Given the description of an element on the screen output the (x, y) to click on. 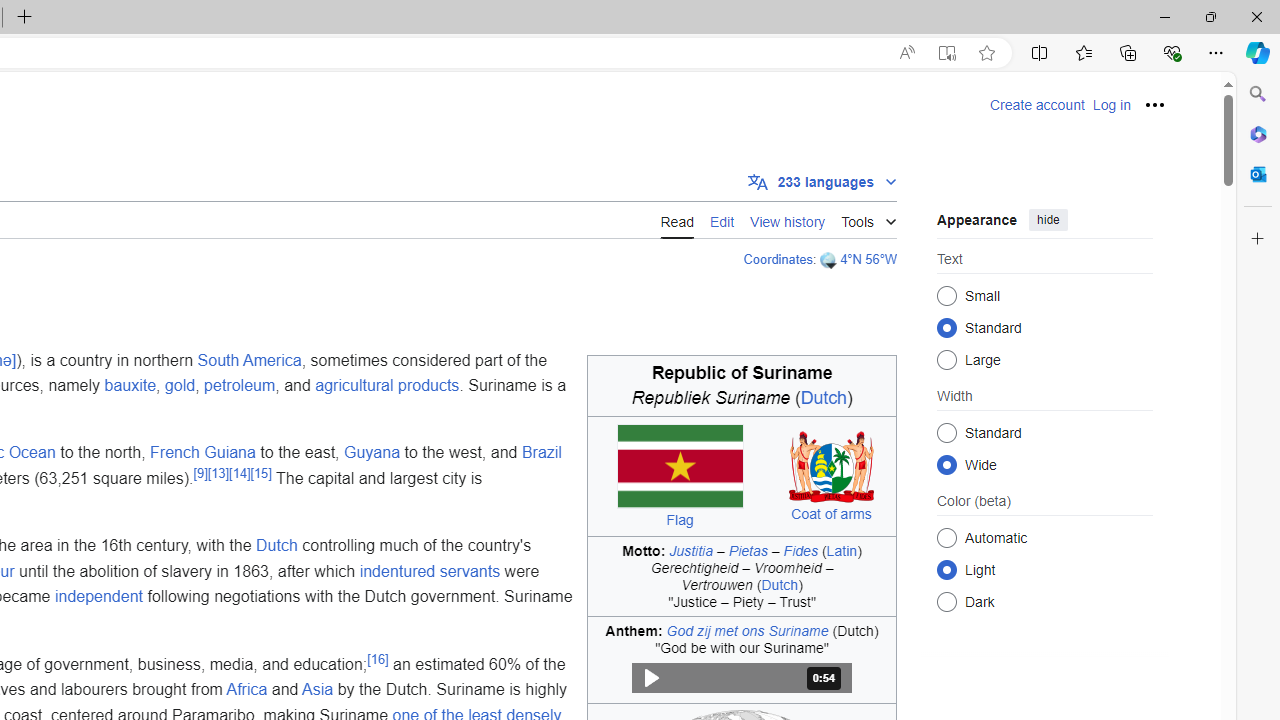
Wide (946, 464)
Flag of Suriname (679, 466)
Dutch (276, 546)
Create account (1037, 105)
Dark (946, 601)
[15] (260, 472)
Coat of arms of Suriname (831, 466)
Personal tools (1155, 104)
[9] (200, 472)
Play audio (742, 678)
